Given the description of an element on the screen output the (x, y) to click on. 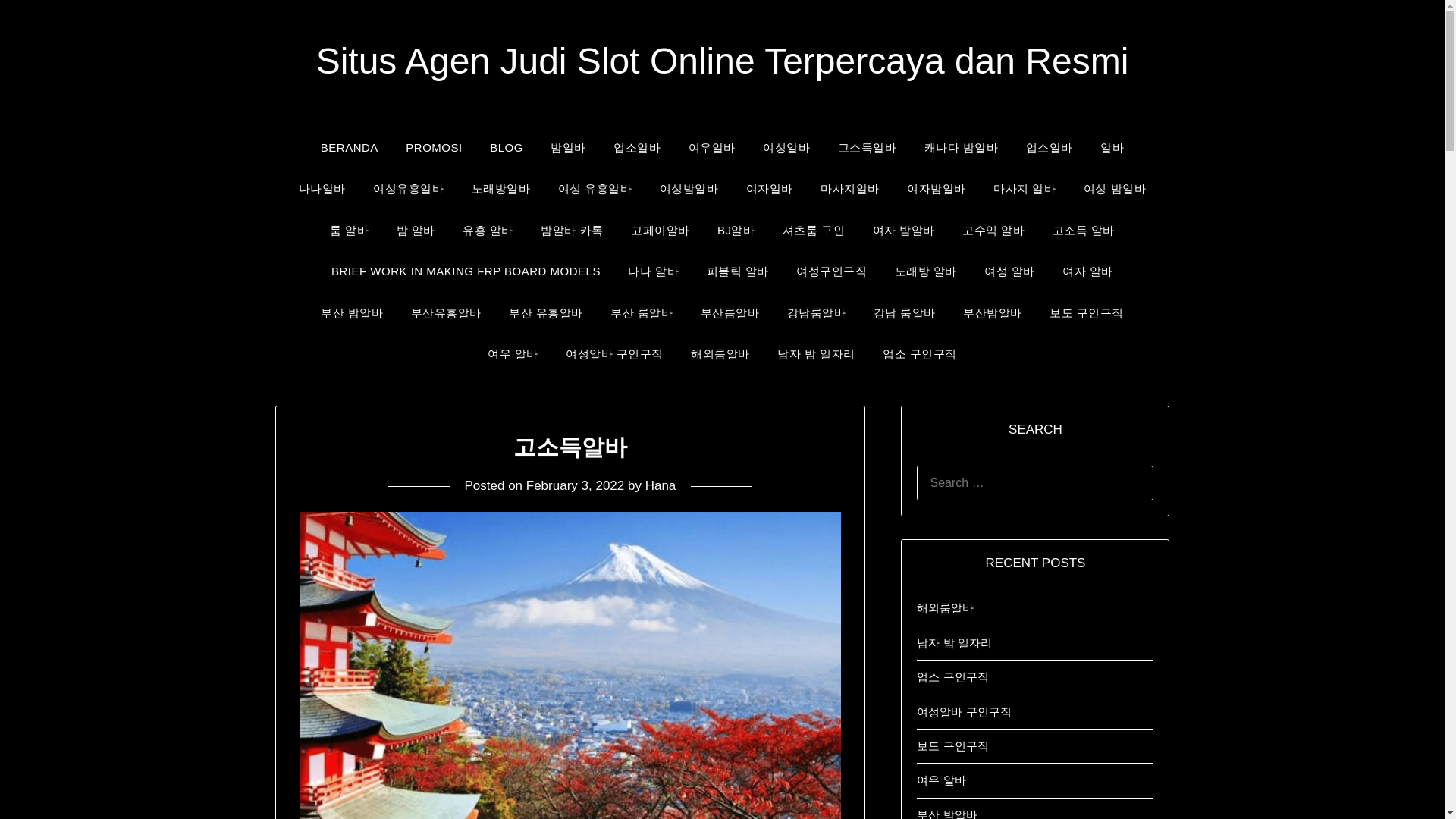
PROMOSI (433, 147)
BRIEF WORK IN MAKING FRP BOARD MODELS (465, 270)
BLOG (506, 147)
BERANDA (349, 147)
Situs Agen Judi Slot Online Terpercaya dan Resmi (722, 60)
